Given the description of an element on the screen output the (x, y) to click on. 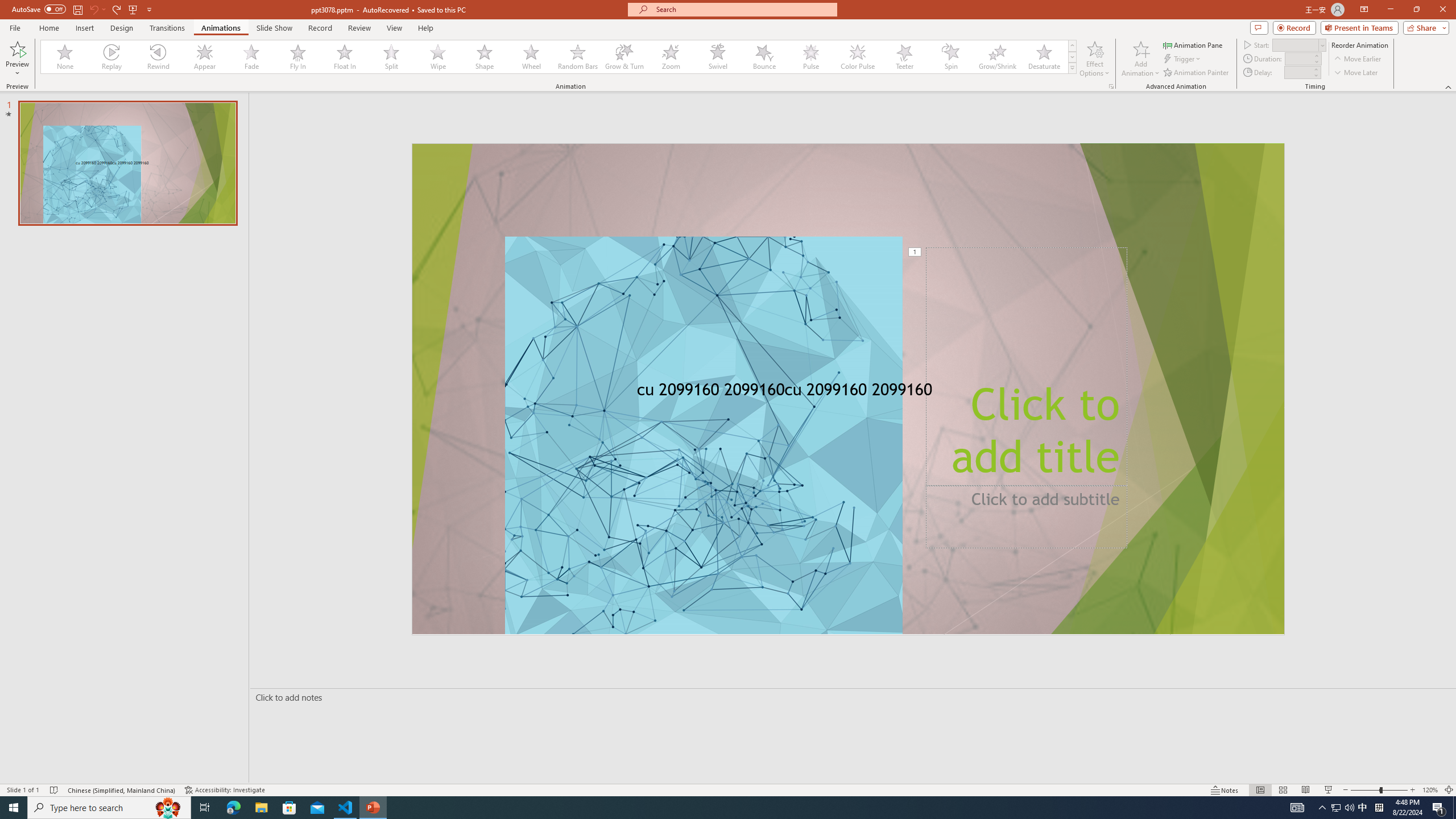
Preview (17, 48)
Animation Styles (1071, 67)
Wipe (437, 56)
More (1315, 69)
Fade (251, 56)
Add Animation (1141, 58)
